Given the description of an element on the screen output the (x, y) to click on. 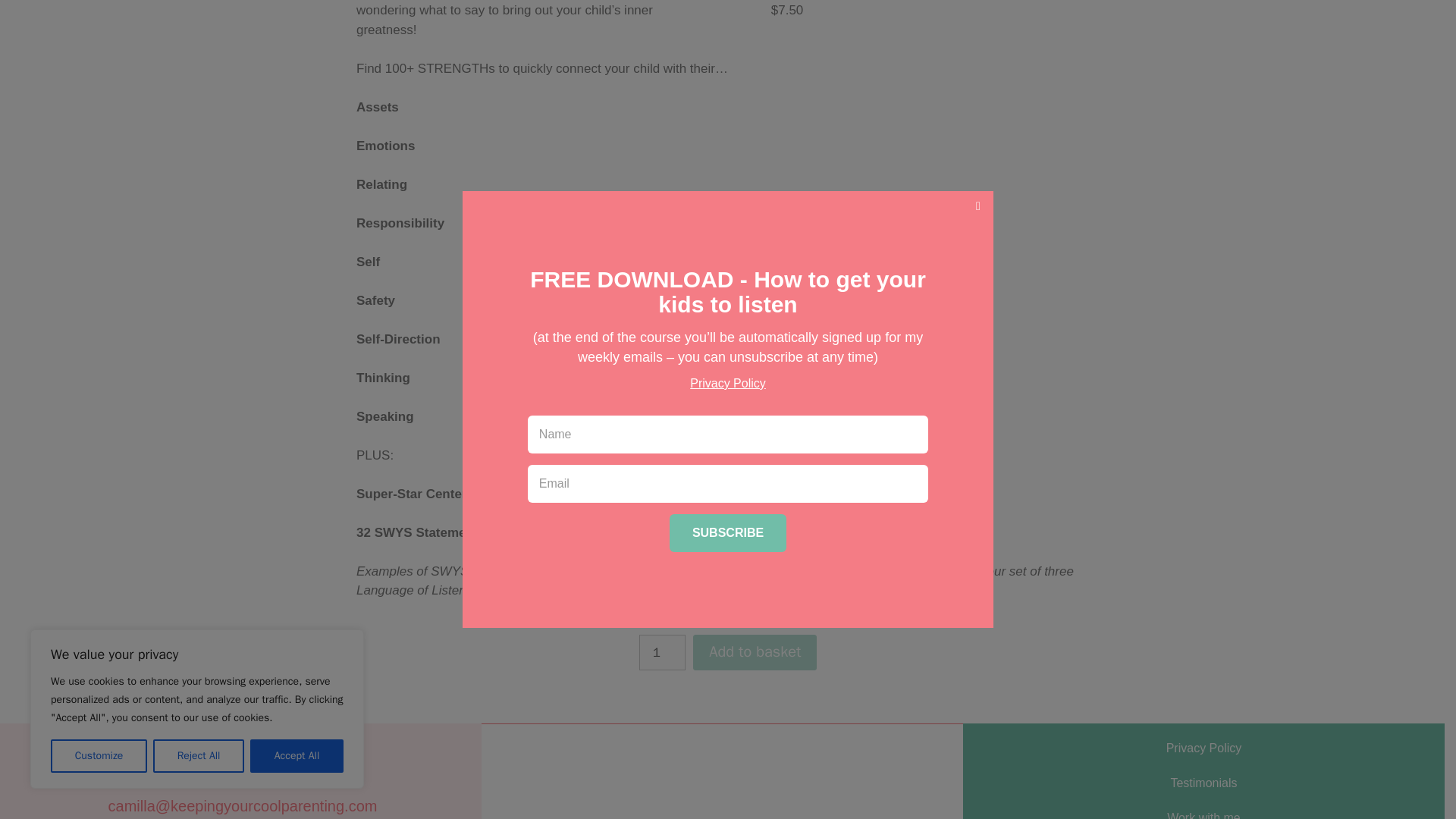
2155 (754, 652)
